Given the description of an element on the screen output the (x, y) to click on. 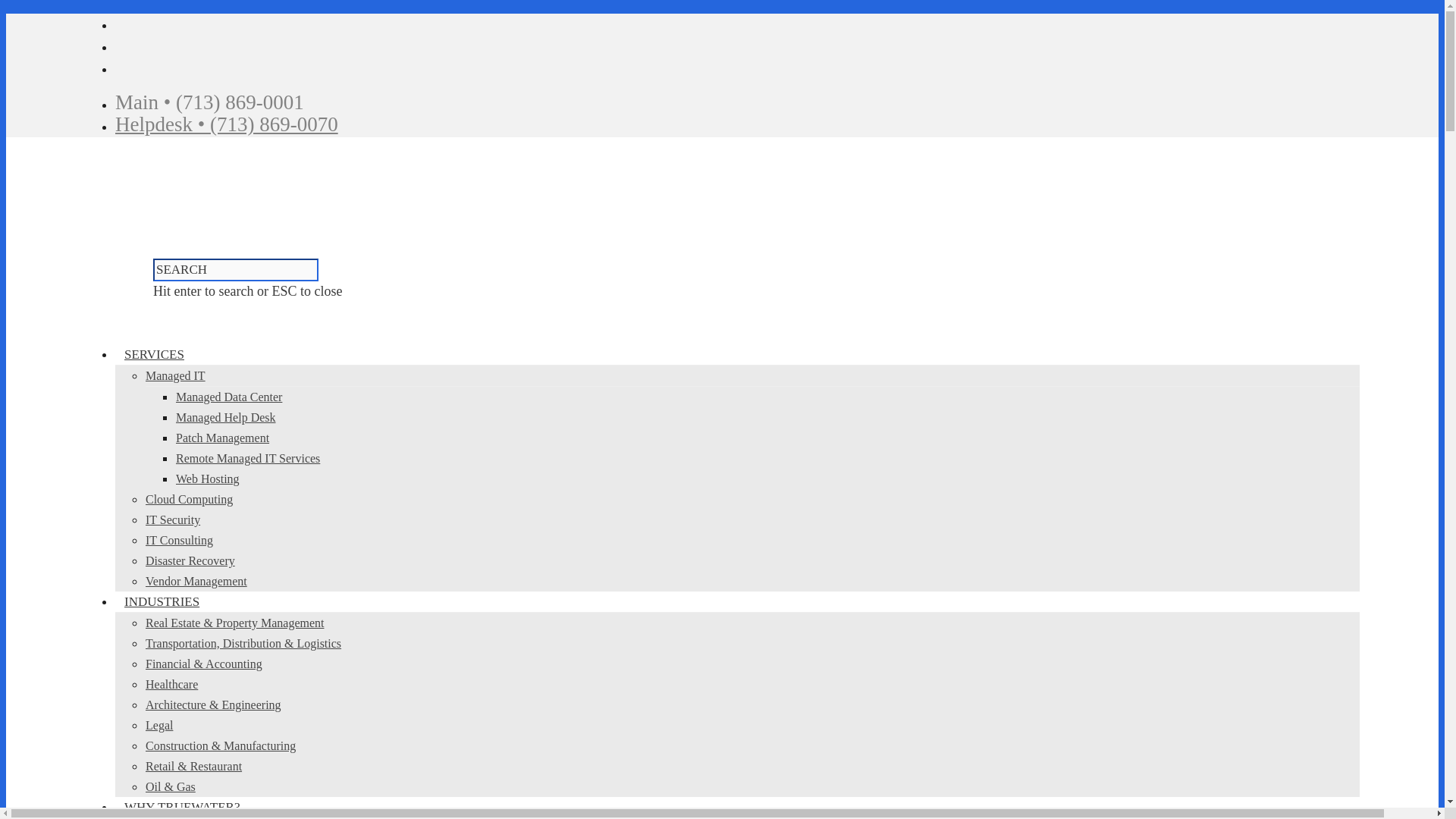
Cloud Computing (188, 499)
Web Hosting (208, 478)
Managed IT (175, 375)
IT Security (172, 519)
INDUSTRIES (161, 601)
Vendor Management (196, 581)
SERVICES (153, 354)
WHY TRUEWATER? (181, 807)
Managed Help Desk (226, 417)
Disaster Recovery (189, 560)
Remote Managed IT Services (248, 458)
Healthcare (171, 684)
Managed Data Center (229, 396)
Patch Management (222, 437)
Legal (159, 725)
